Given the description of an element on the screen output the (x, y) to click on. 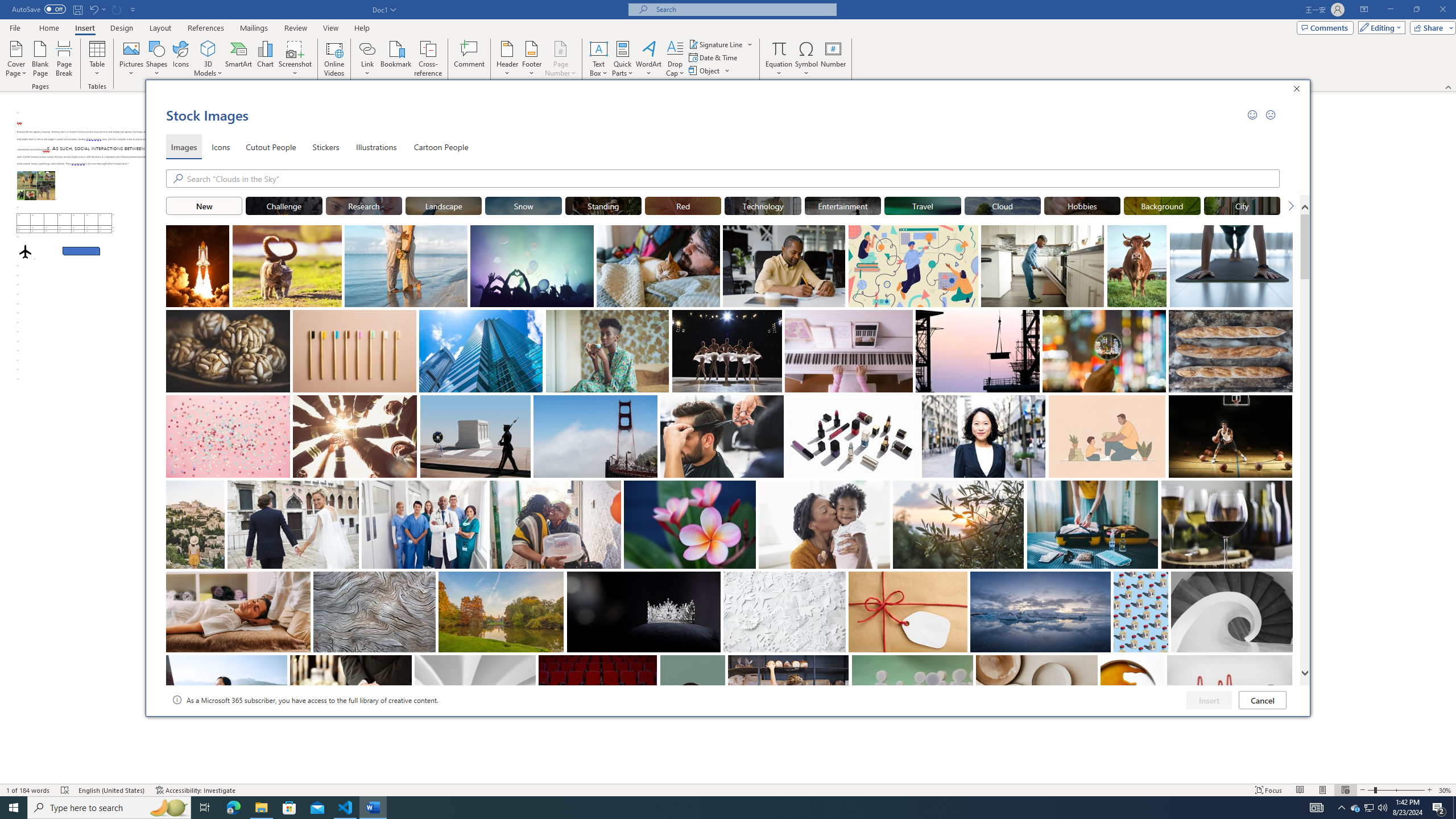
Customize Quick Access Toolbar (133, 9)
Save (77, 9)
Design (122, 28)
User Promoted Notification Area (1368, 807)
Send a Smile (1251, 114)
Start (13, 807)
Header (507, 58)
Quick Parts (622, 58)
Web Layout (1344, 790)
Comments (1325, 27)
Pictures (131, 58)
Zoom (1396, 790)
